Given the description of an element on the screen output the (x, y) to click on. 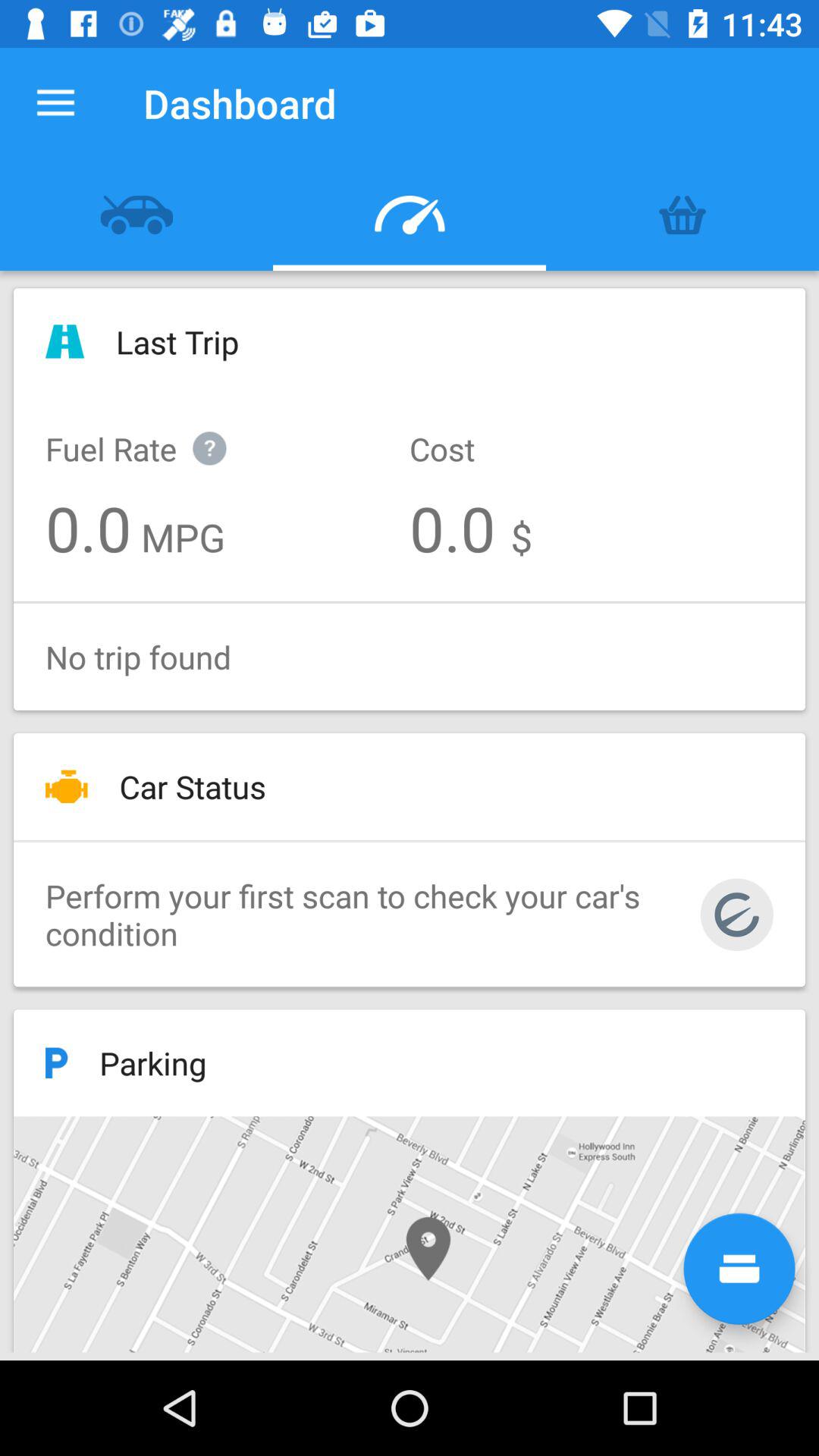
open the fuel rate icon (151, 432)
